Given the description of an element on the screen output the (x, y) to click on. 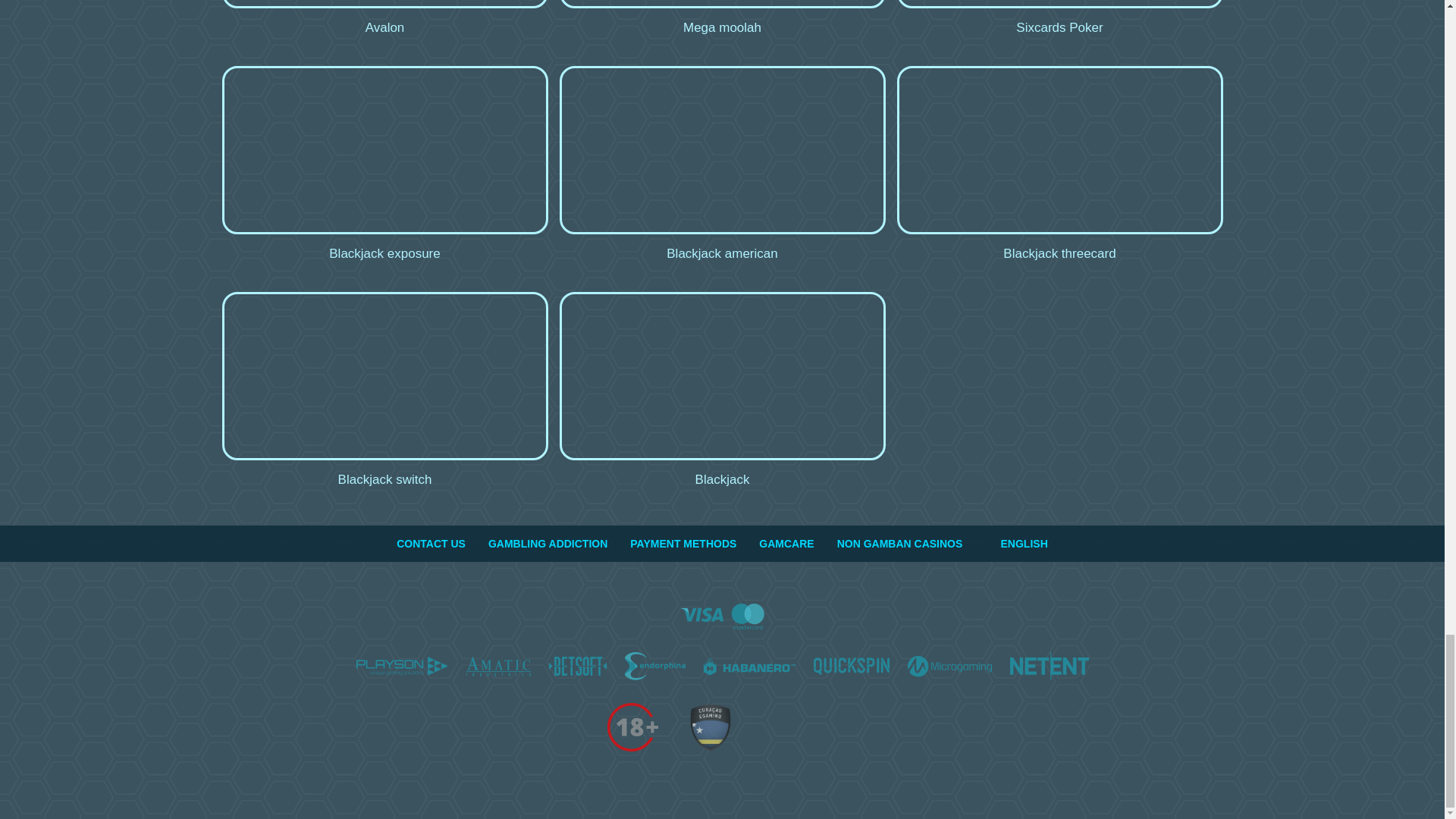
English (991, 542)
